Given the description of an element on the screen output the (x, y) to click on. 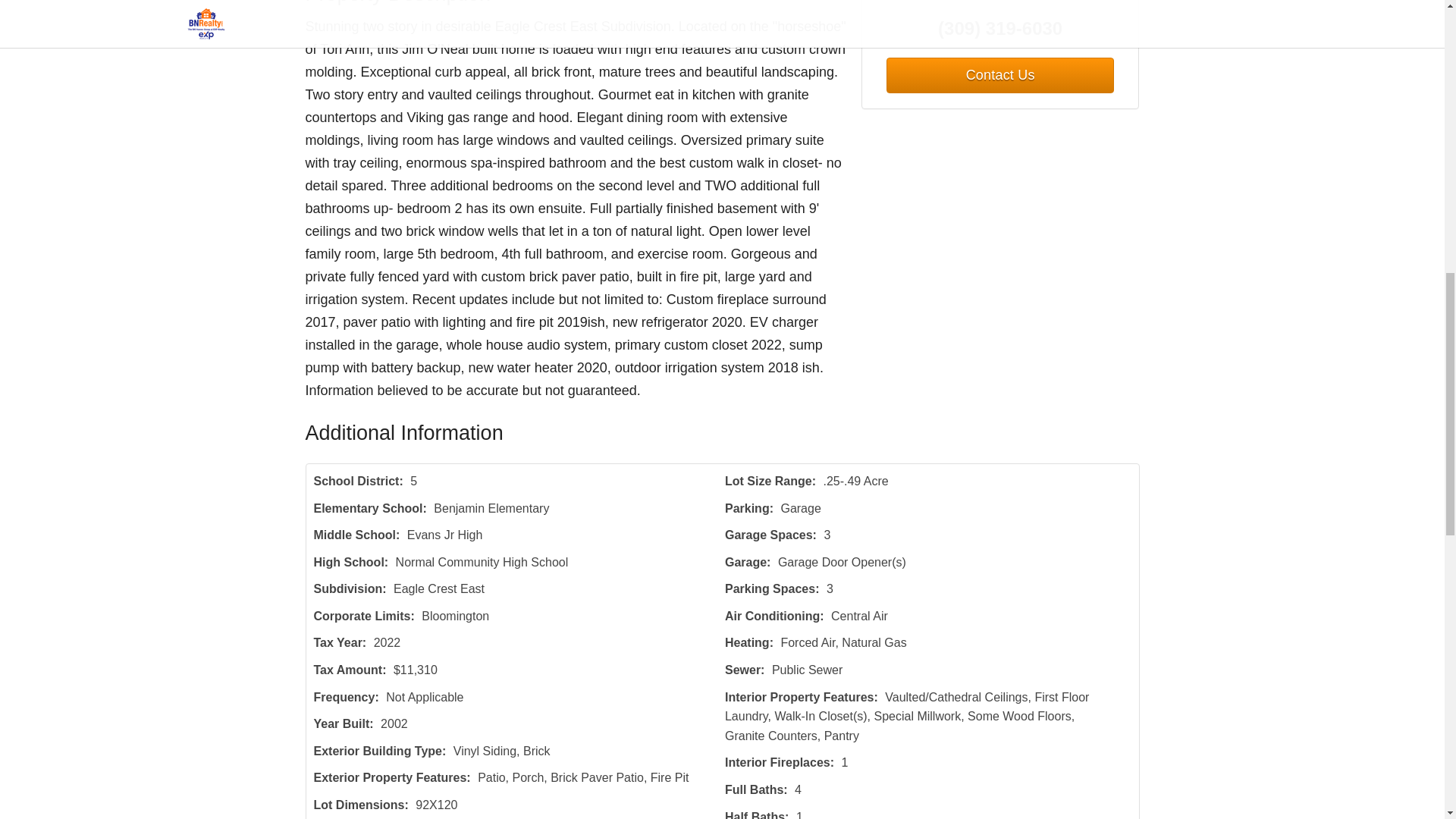
Contact Us (999, 75)
